Given the description of an element on the screen output the (x, y) to click on. 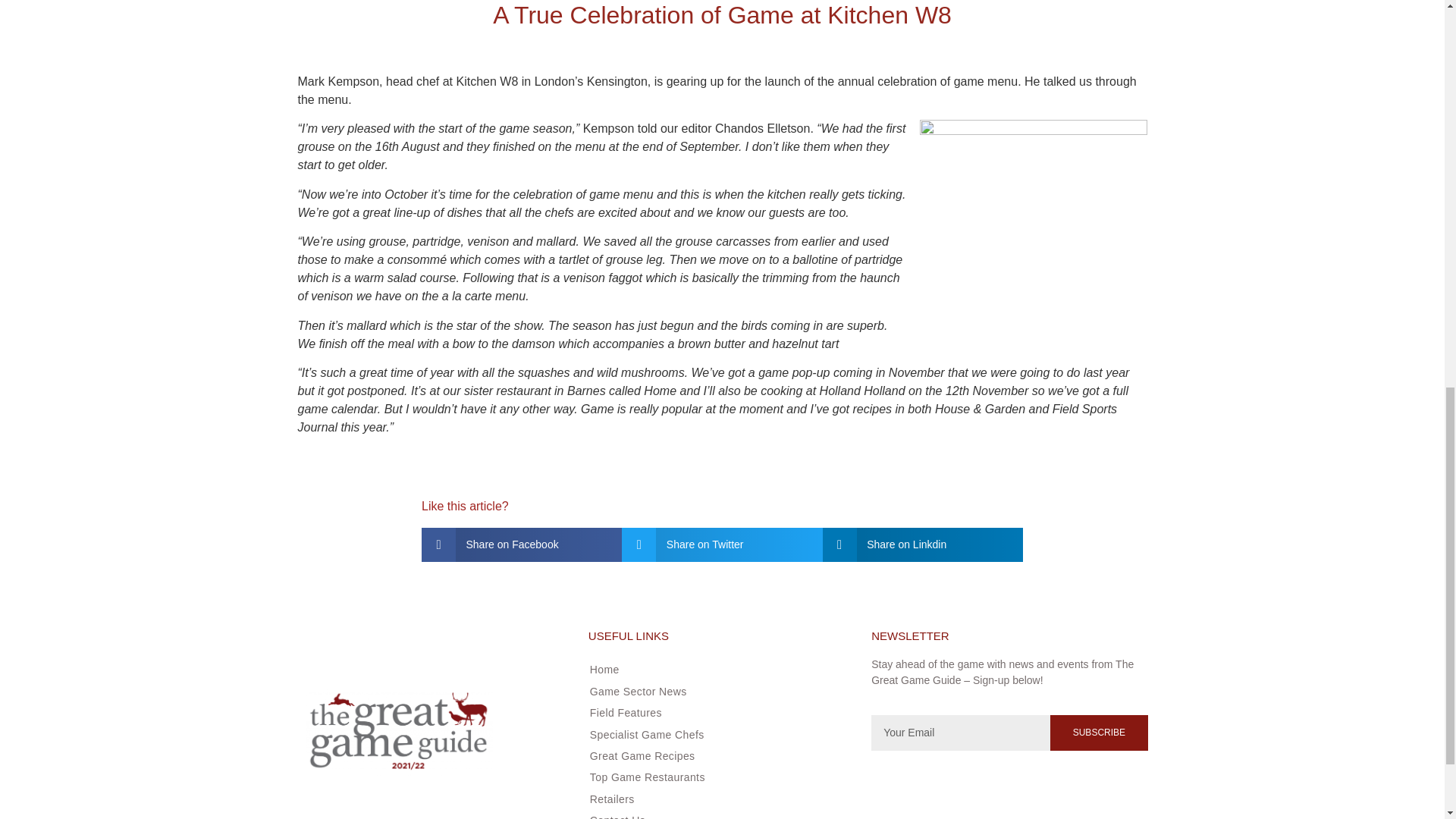
Home (715, 669)
Game Sector News (715, 691)
